Given the description of an element on the screen output the (x, y) to click on. 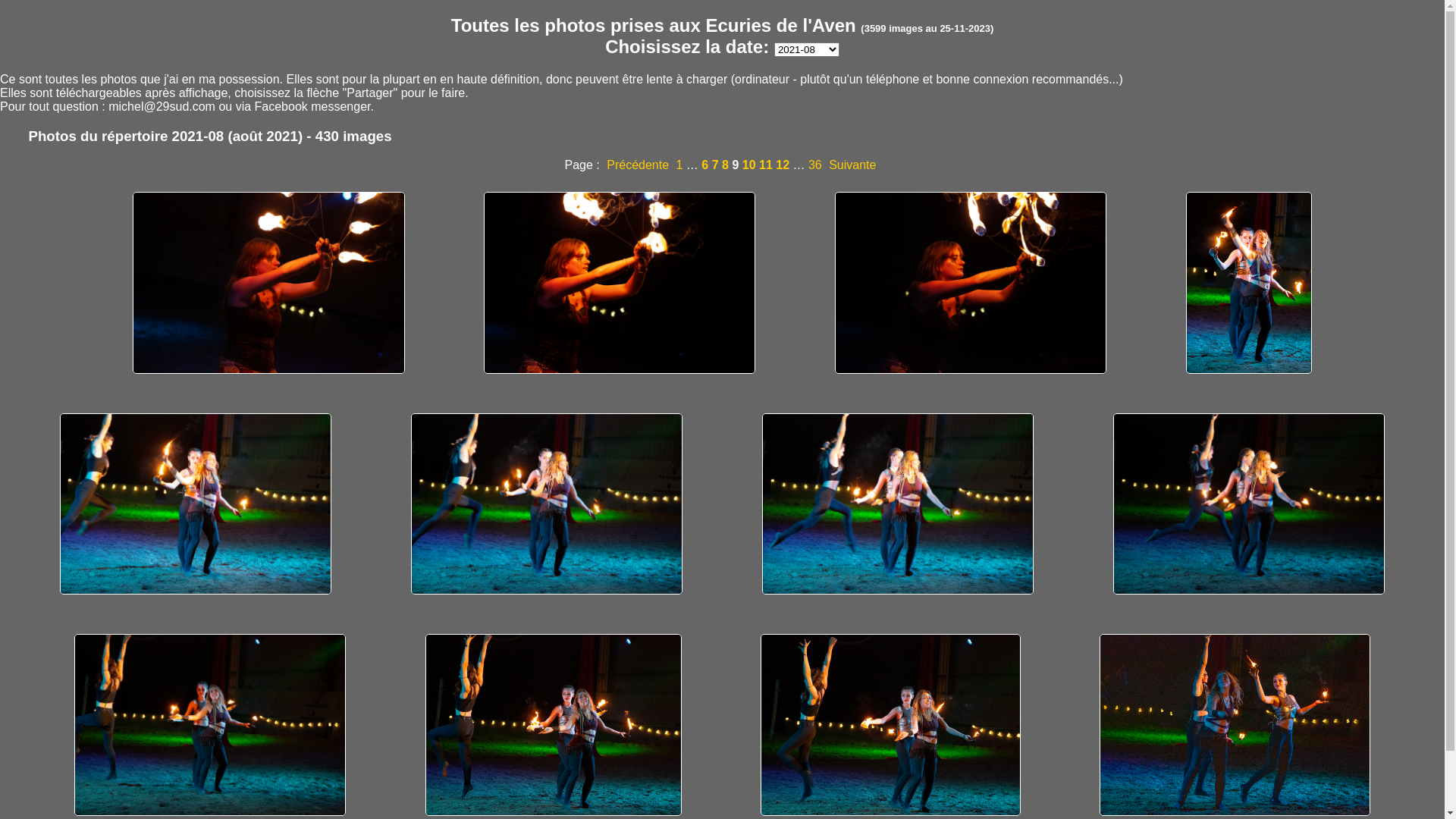
8 Element type: text (724, 164)
6 Element type: text (704, 164)
Suivante Element type: text (851, 164)
12 Element type: text (782, 164)
7 Element type: text (715, 164)
10 Element type: text (749, 164)
11 Element type: text (765, 164)
36 Element type: text (815, 164)
1 Element type: text (679, 164)
